Given the description of an element on the screen output the (x, y) to click on. 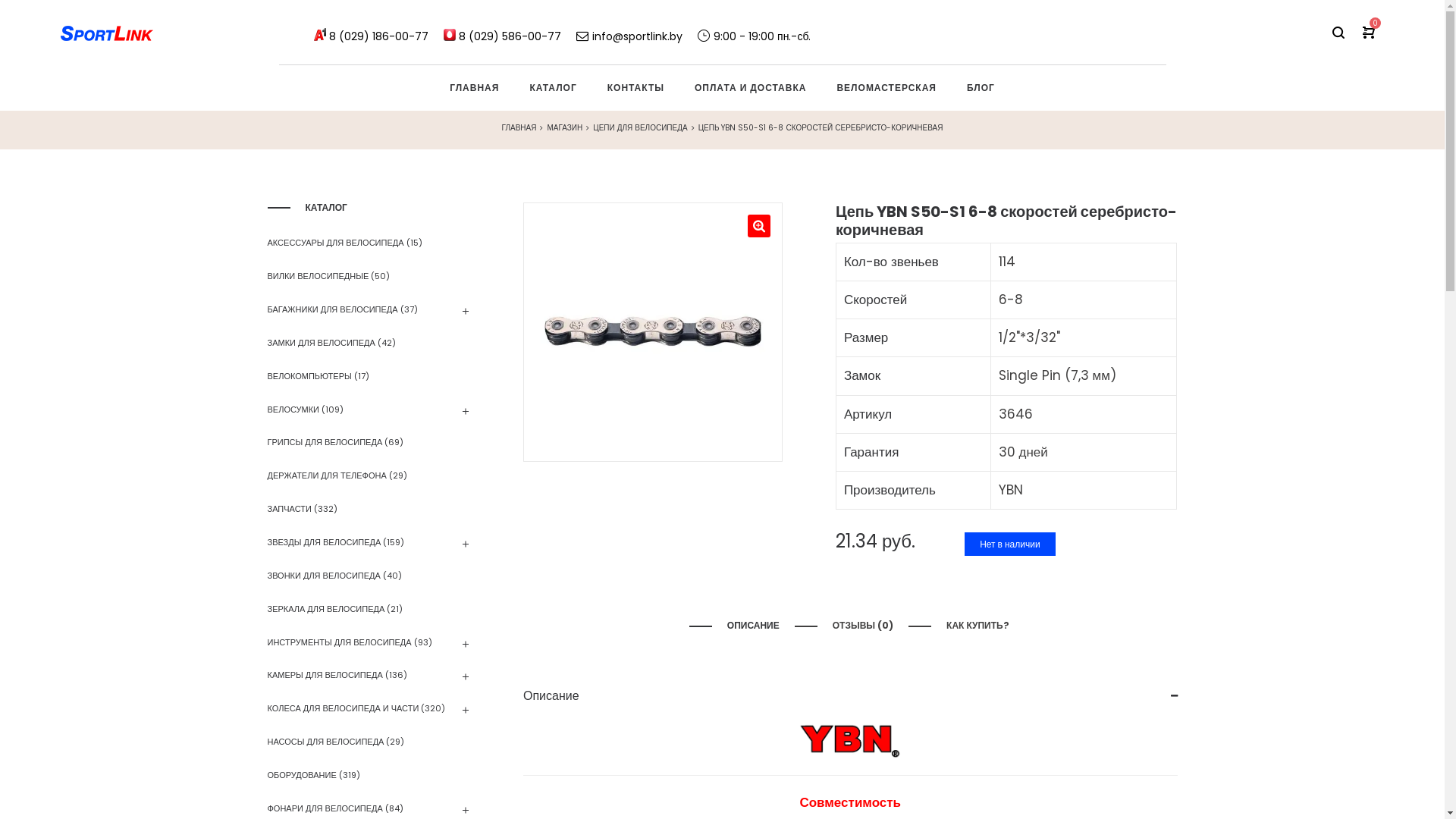
8 (029) 186-00-77 Element type: text (378, 31)
info@sportlink.by Element type: text (629, 31)
8 (029) 586-00-77 Element type: text (509, 31)
0 Element type: text (1368, 31)
